Given the description of an element on the screen output the (x, y) to click on. 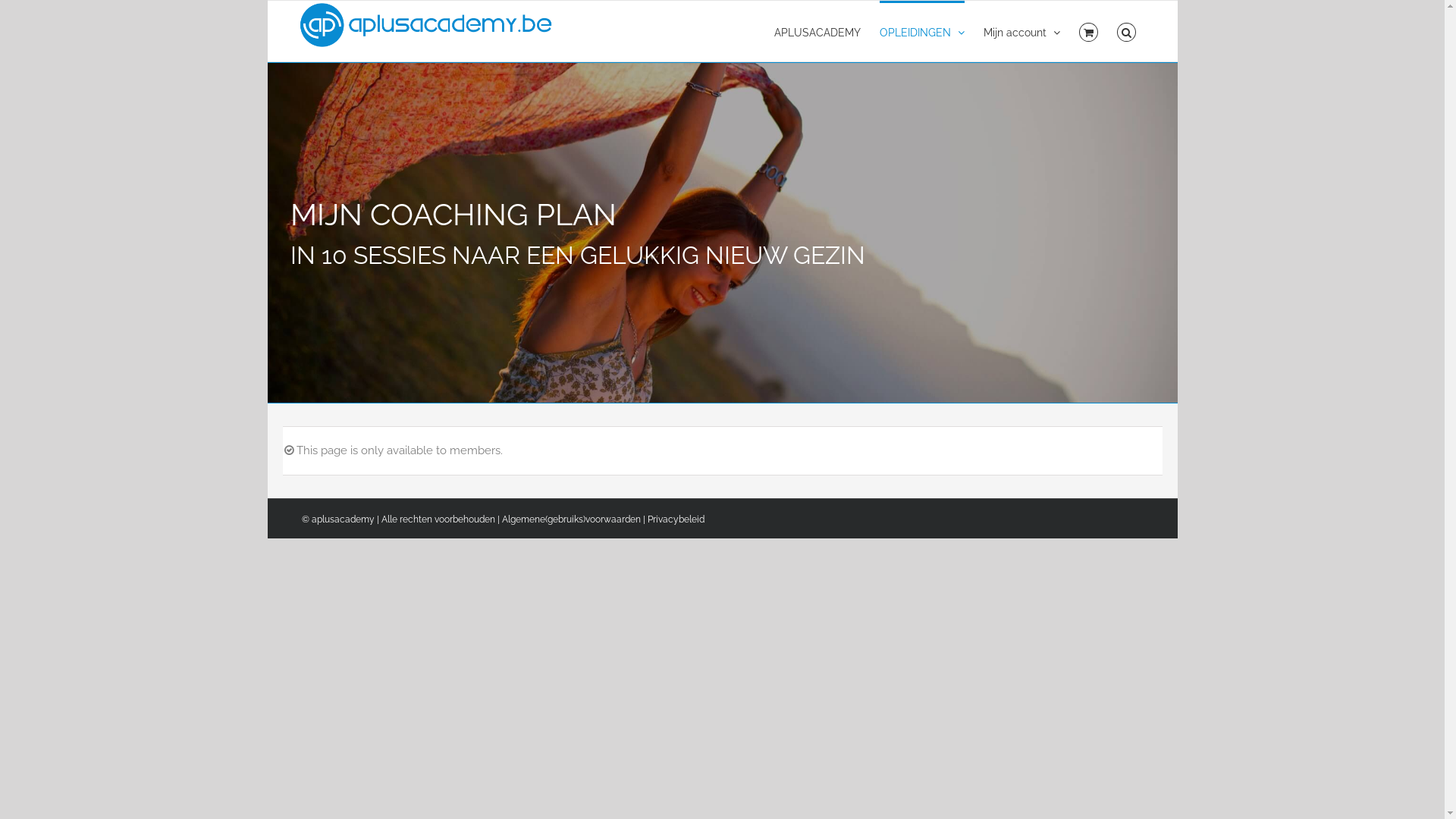
APLUSACADEMY Element type: text (817, 30)
Privacybeleid Element type: text (675, 519)
Mijn account Element type: text (1021, 30)
Algemene(gebruiks)voorwaarden Element type: text (571, 519)
OPLEIDINGEN Element type: text (921, 30)
Zoeken Element type: hover (1126, 30)
